Given the description of an element on the screen output the (x, y) to click on. 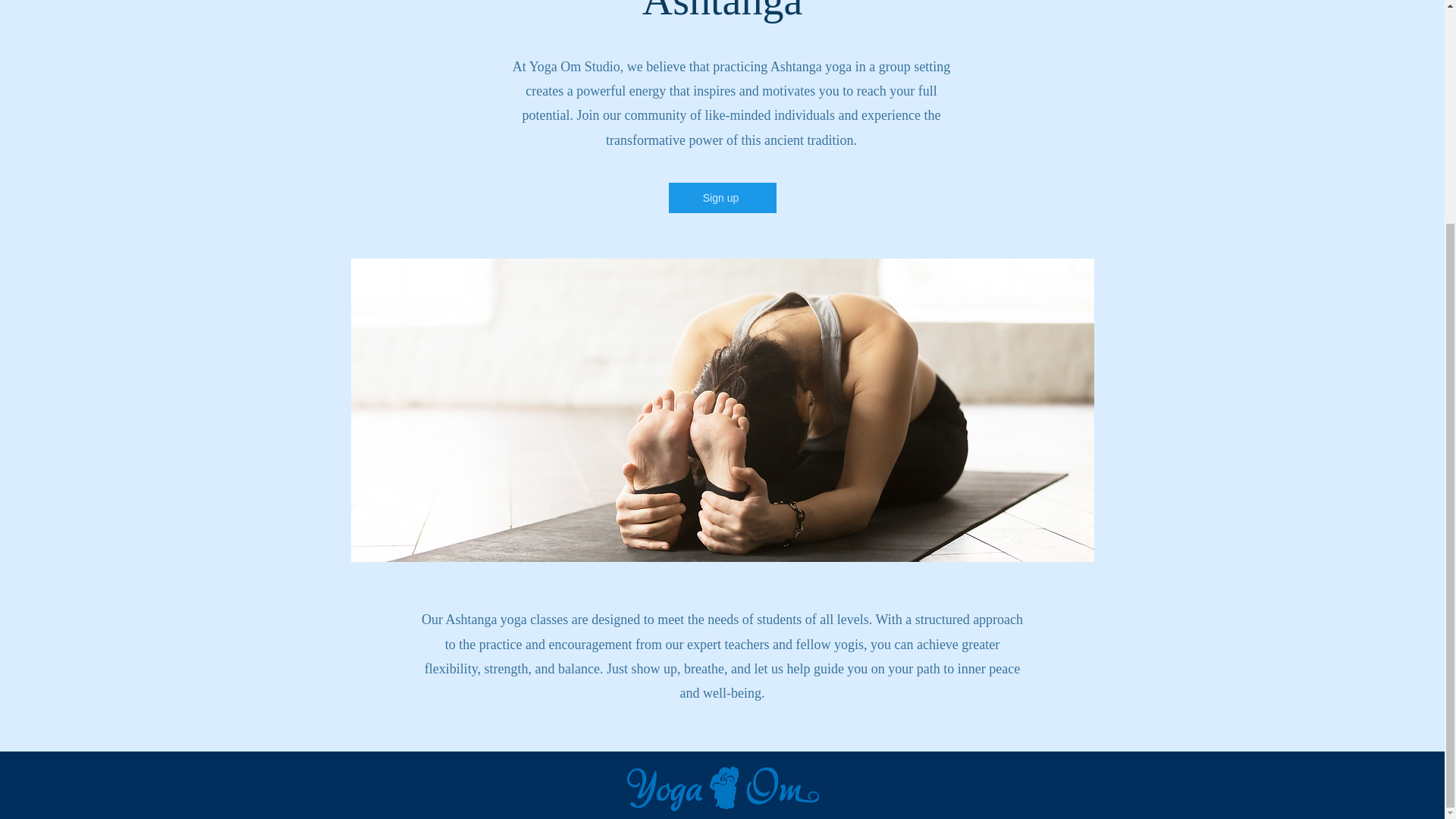
Sign up (722, 197)
